Given the description of an element on the screen output the (x, y) to click on. 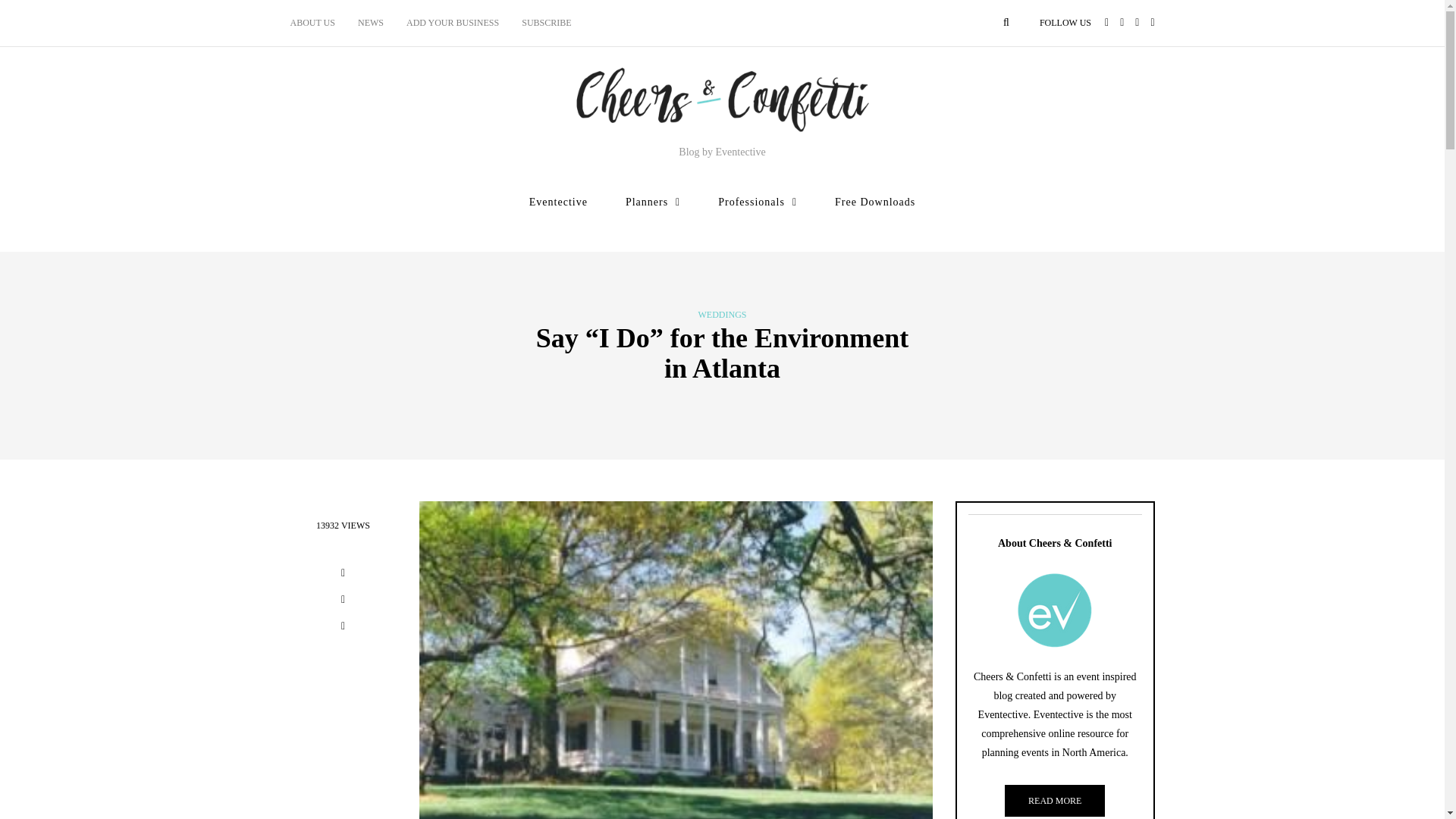
Professionals (757, 202)
Tweet this (342, 601)
NEWS (370, 22)
Eventective (558, 202)
SUBSCRIBE (546, 22)
WEDDINGS (721, 314)
Free Downloads (874, 202)
ABOUT US (317, 22)
Share this (342, 574)
Planners (652, 202)
Pin this (342, 628)
ADD YOUR BUSINESS (452, 22)
